Given the description of an element on the screen output the (x, y) to click on. 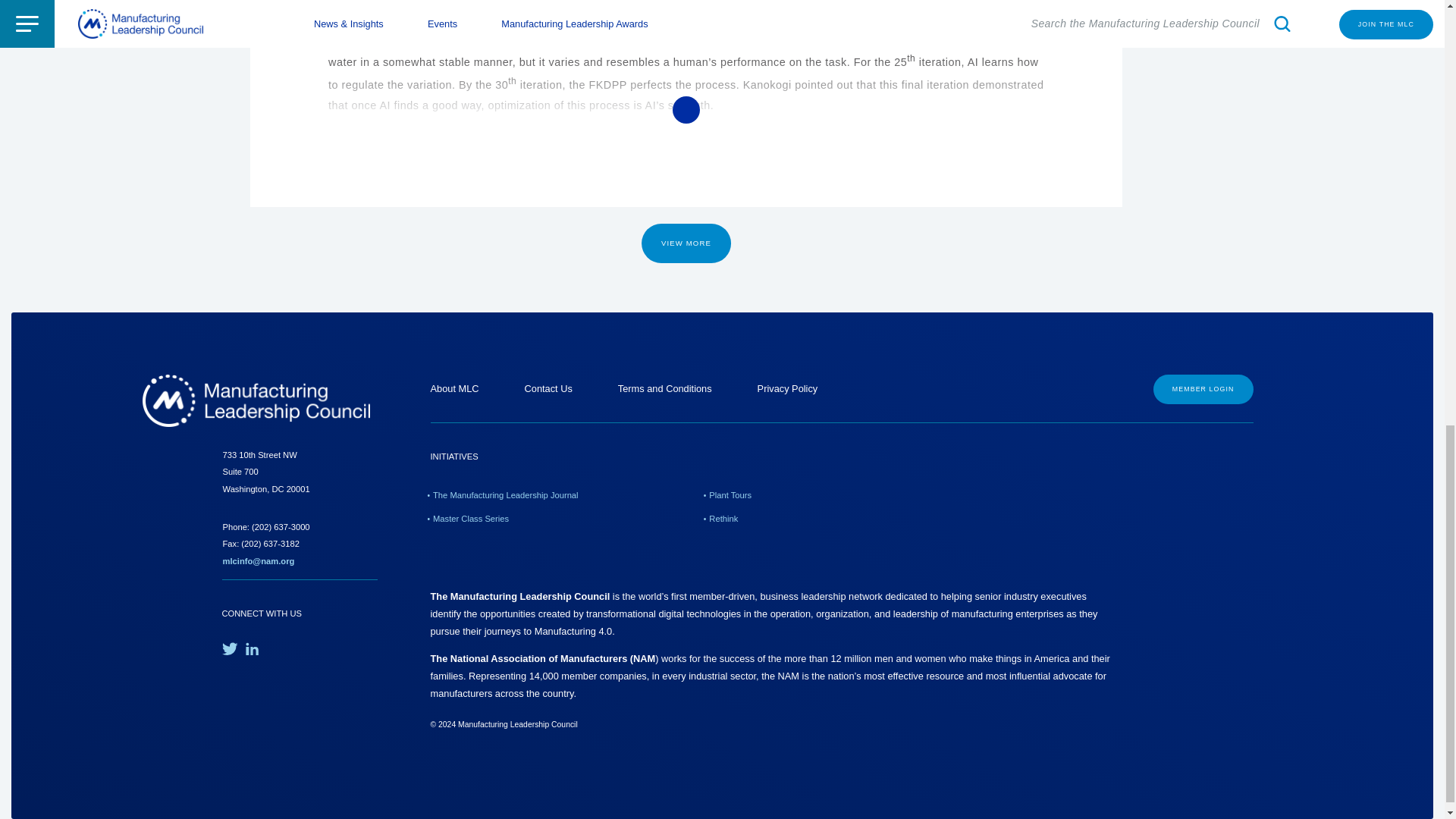
MEMBER LOGIN (1203, 389)
About MLC (454, 388)
Privacy Policy (787, 388)
The Manufacturing Leadership Journal (504, 494)
Plant Tours (728, 494)
VIEW MORE (686, 242)
Master Class Series (469, 518)
Rethink (722, 518)
Show More (686, 109)
Terms and Conditions (664, 388)
Contact Us (548, 388)
Follow Us on Twitter (229, 647)
